Given the description of an element on the screen output the (x, y) to click on. 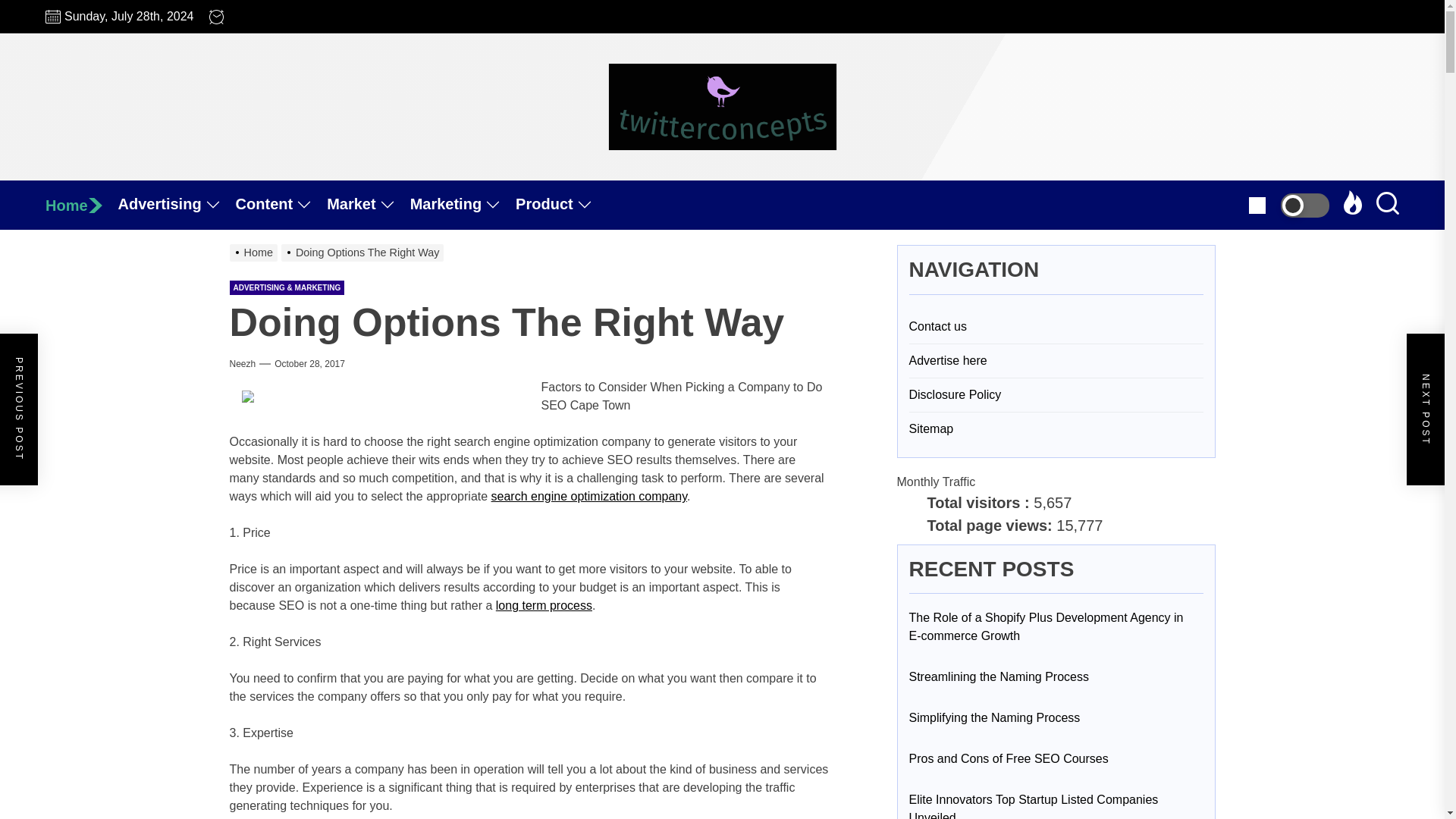
Home (81, 205)
Marketing (462, 205)
TwitterConcepts (790, 177)
Advertising (176, 205)
Market (367, 205)
Product (561, 205)
Content (281, 205)
Home (81, 205)
